Given the description of an element on the screen output the (x, y) to click on. 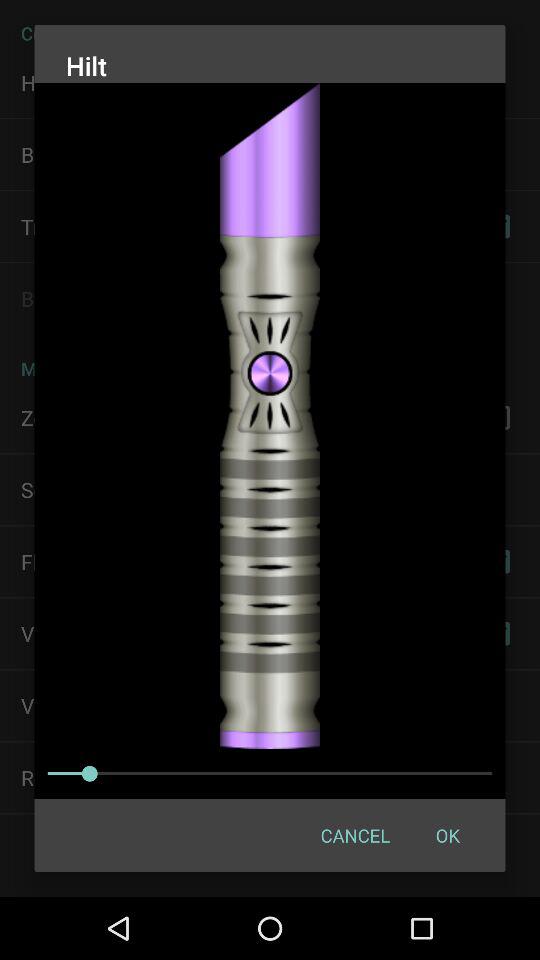
open ok (447, 834)
